Given the description of an element on the screen output the (x, y) to click on. 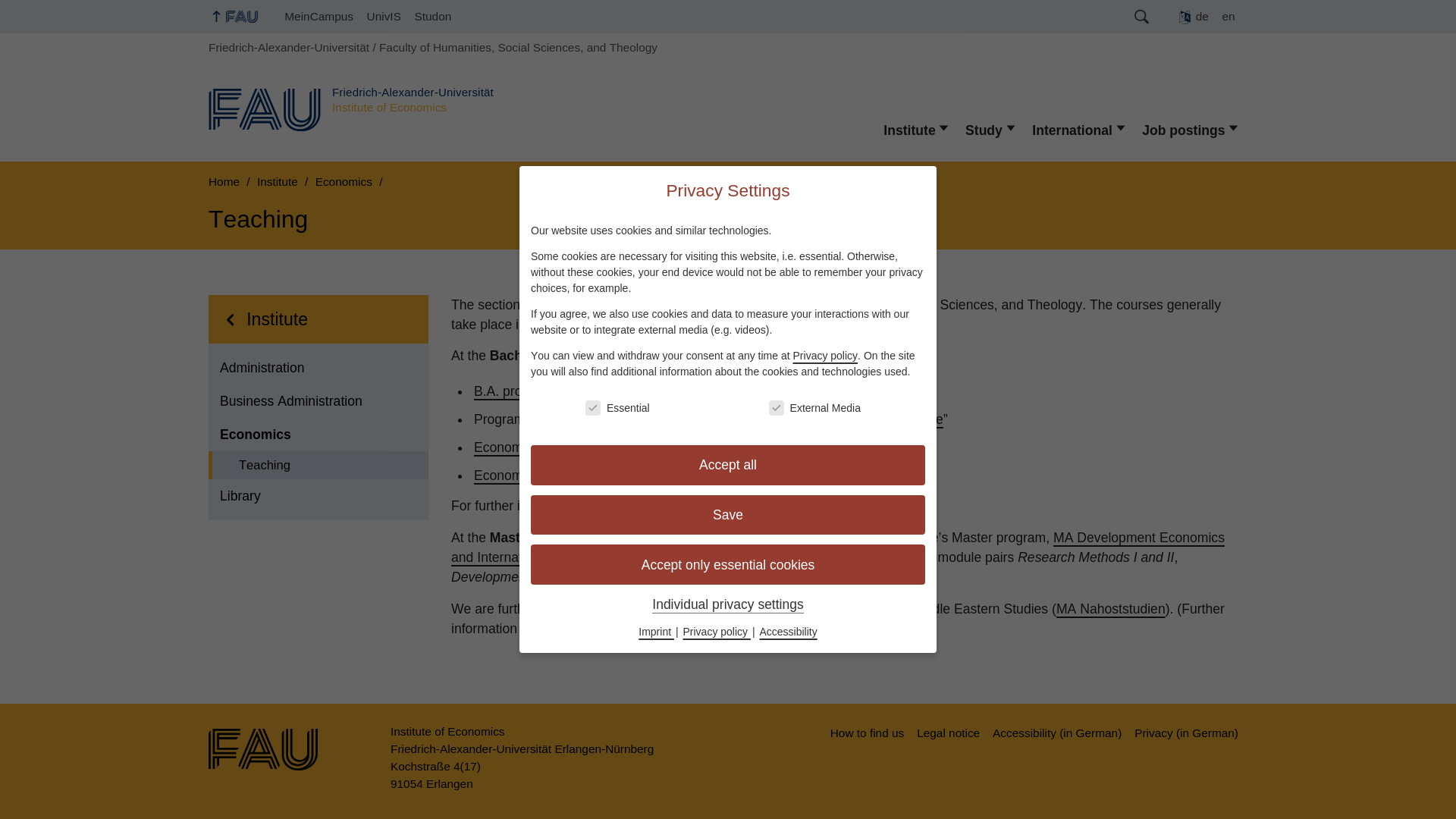
UnivIS (383, 16)
Institute (917, 130)
de (1193, 16)
Faculty of Humanities, Social Sciences, and Theology (518, 47)
Studon (432, 16)
MeinCampus (318, 16)
en (1228, 16)
Study (991, 130)
